Given the description of an element on the screen output the (x, y) to click on. 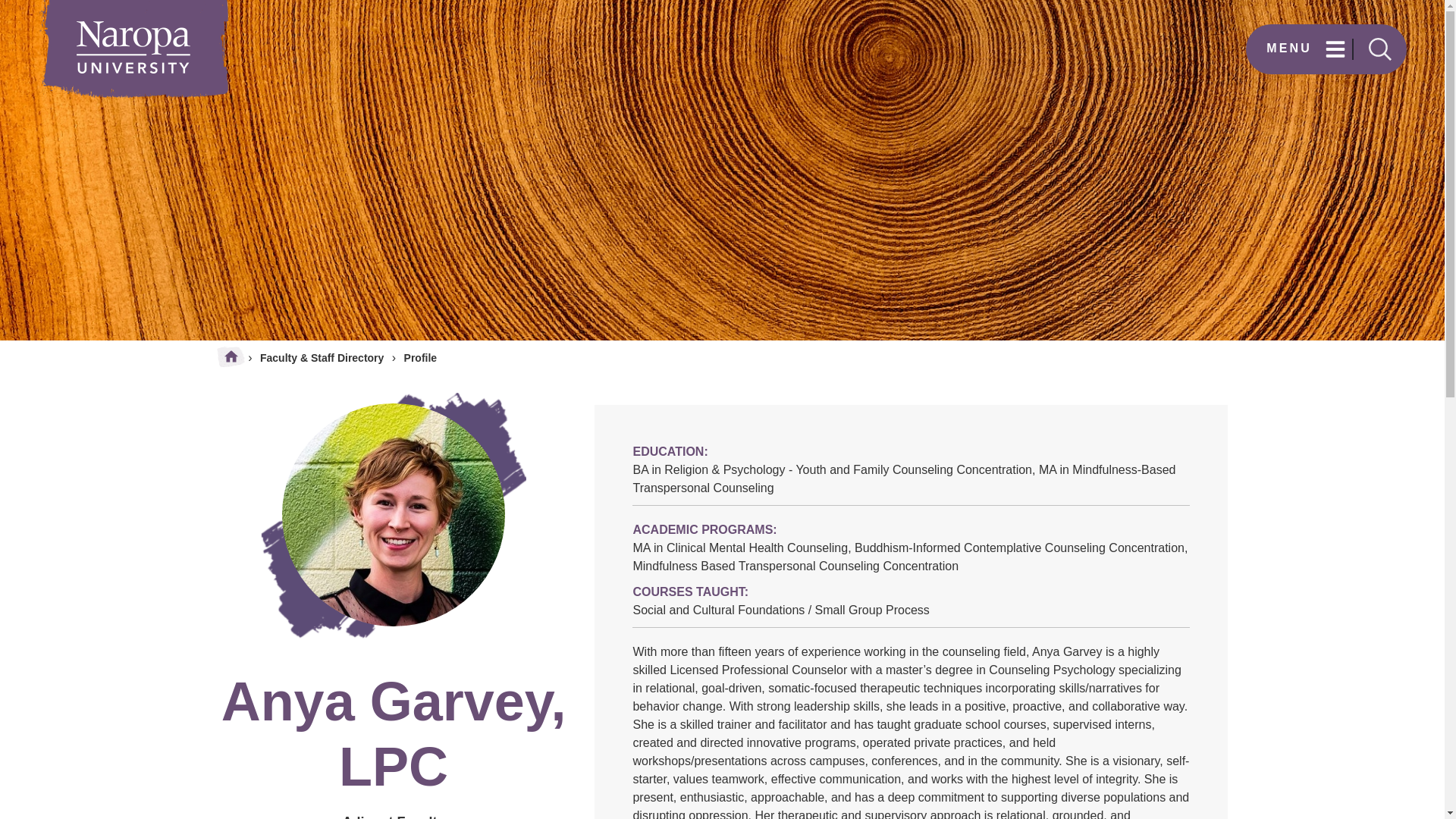
MENU (1310, 47)
